Given the description of an element on the screen output the (x, y) to click on. 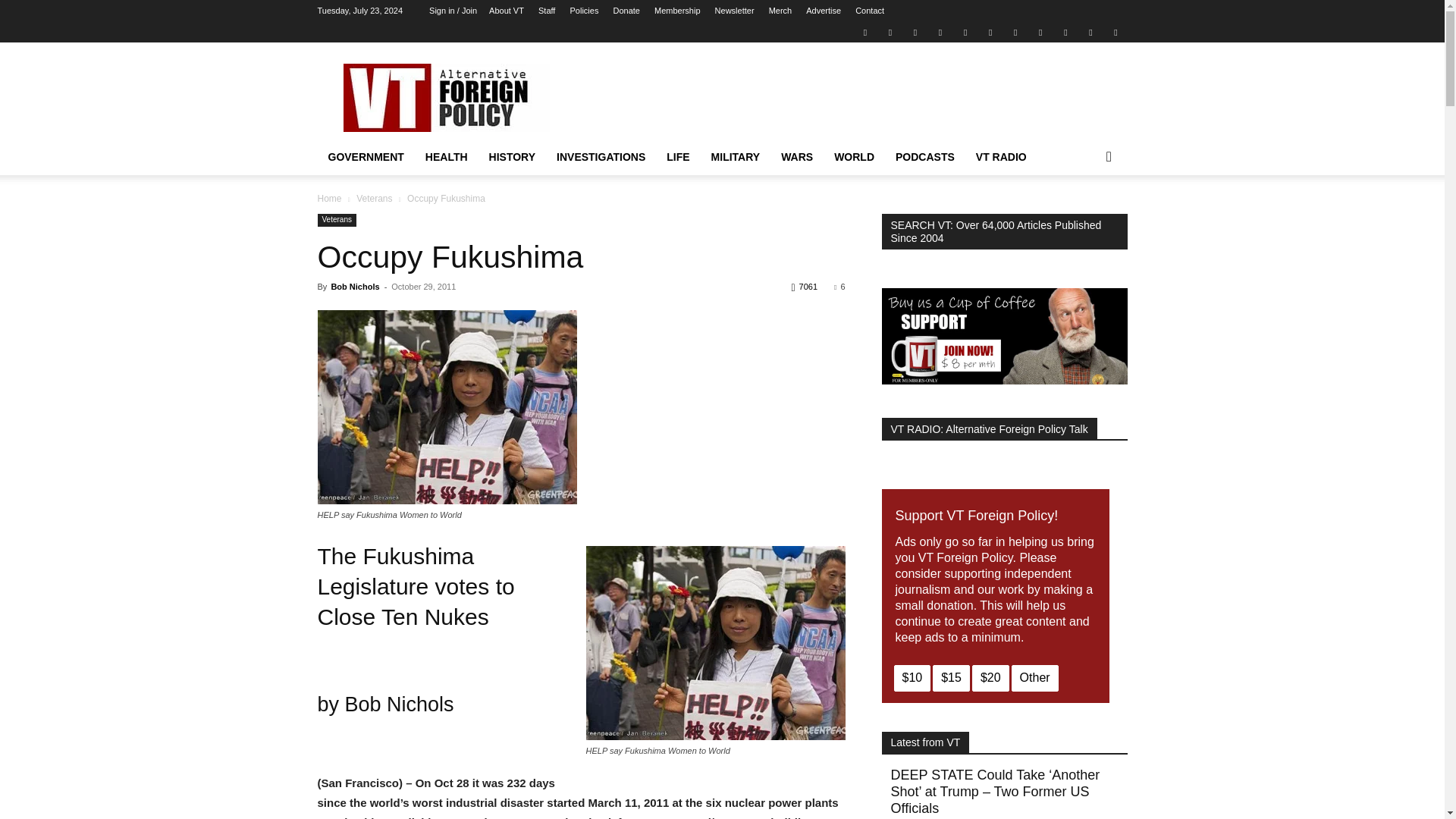
Newsletter (734, 10)
About VT (506, 10)
Contact (869, 10)
Policies (583, 10)
Reddit (940, 31)
Mail (915, 31)
Blogger (864, 31)
Advertise (823, 10)
Donate (625, 10)
Staff (546, 10)
Rumble (964, 31)
Facebook (890, 31)
Membership (676, 10)
Merch (780, 10)
